Given the description of an element on the screen output the (x, y) to click on. 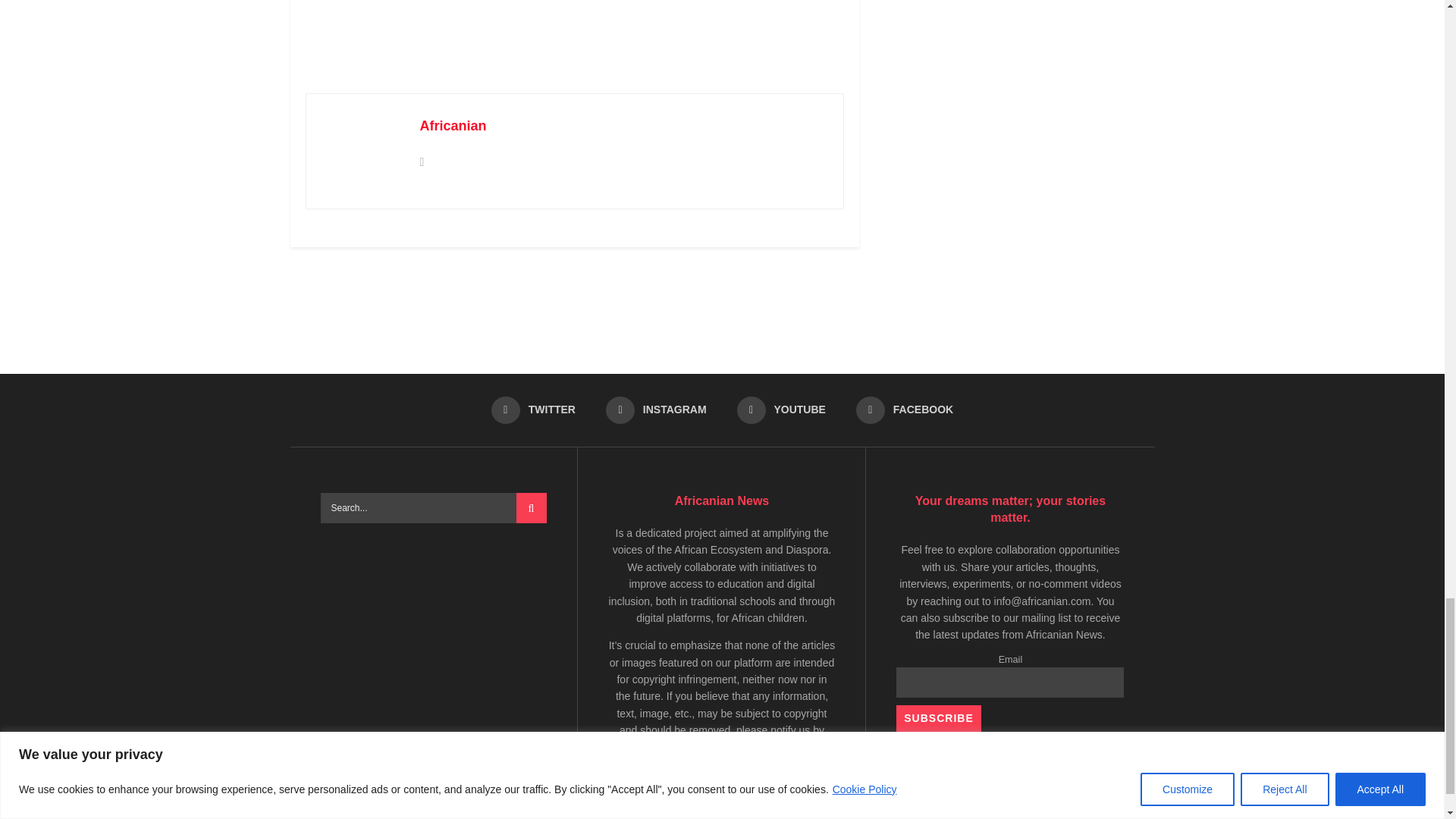
Advertisement (580, 32)
Subscribe (937, 718)
Advertisement (722, 304)
